Given the description of an element on the screen output the (x, y) to click on. 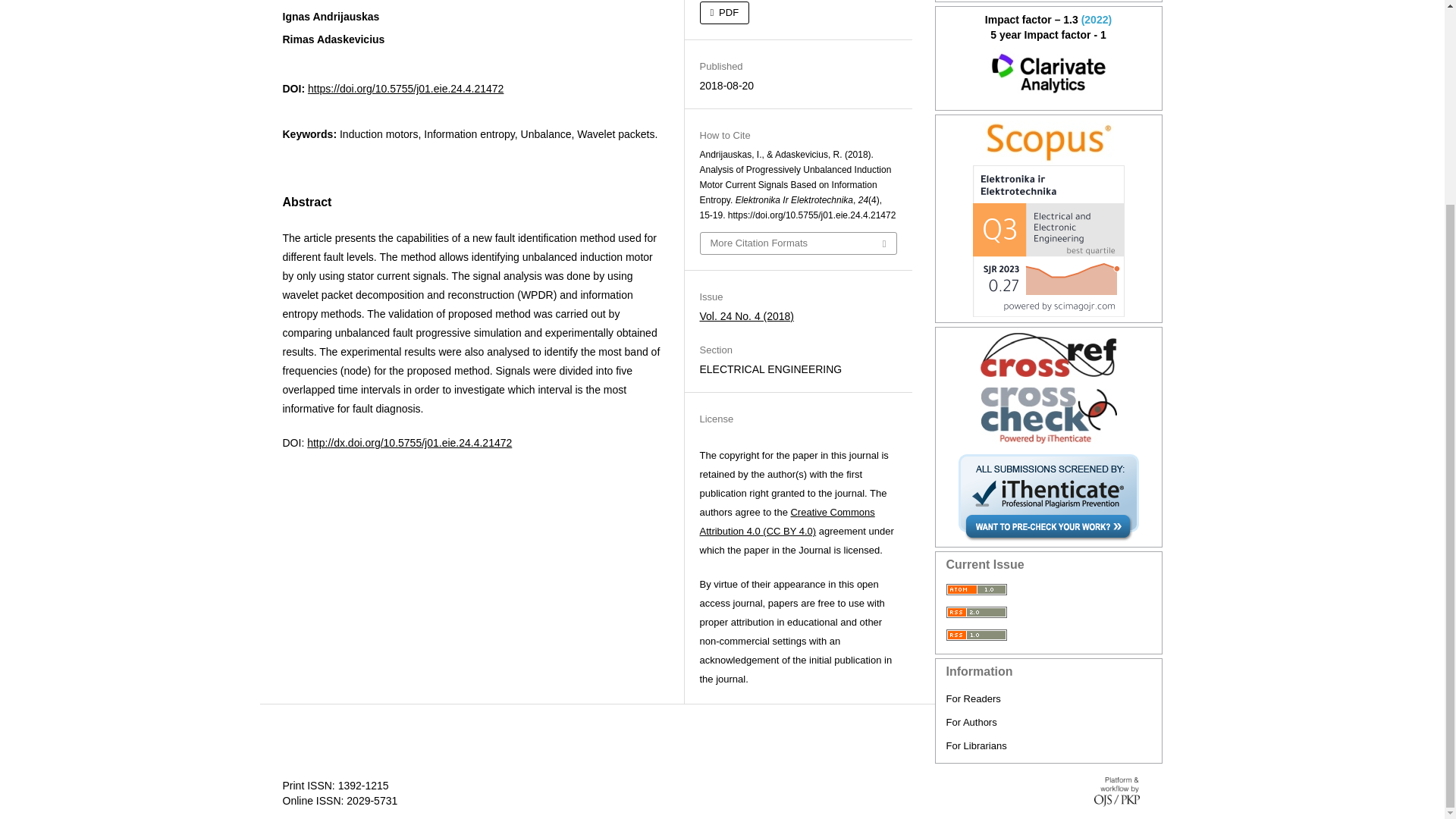
More Citation Formats (798, 242)
Journal: Elektronika Ir Elektrotechnika (1048, 73)
Journal: Elektronika Ir Elektrotechnika (1048, 142)
PDF (723, 12)
